Given the description of an element on the screen output the (x, y) to click on. 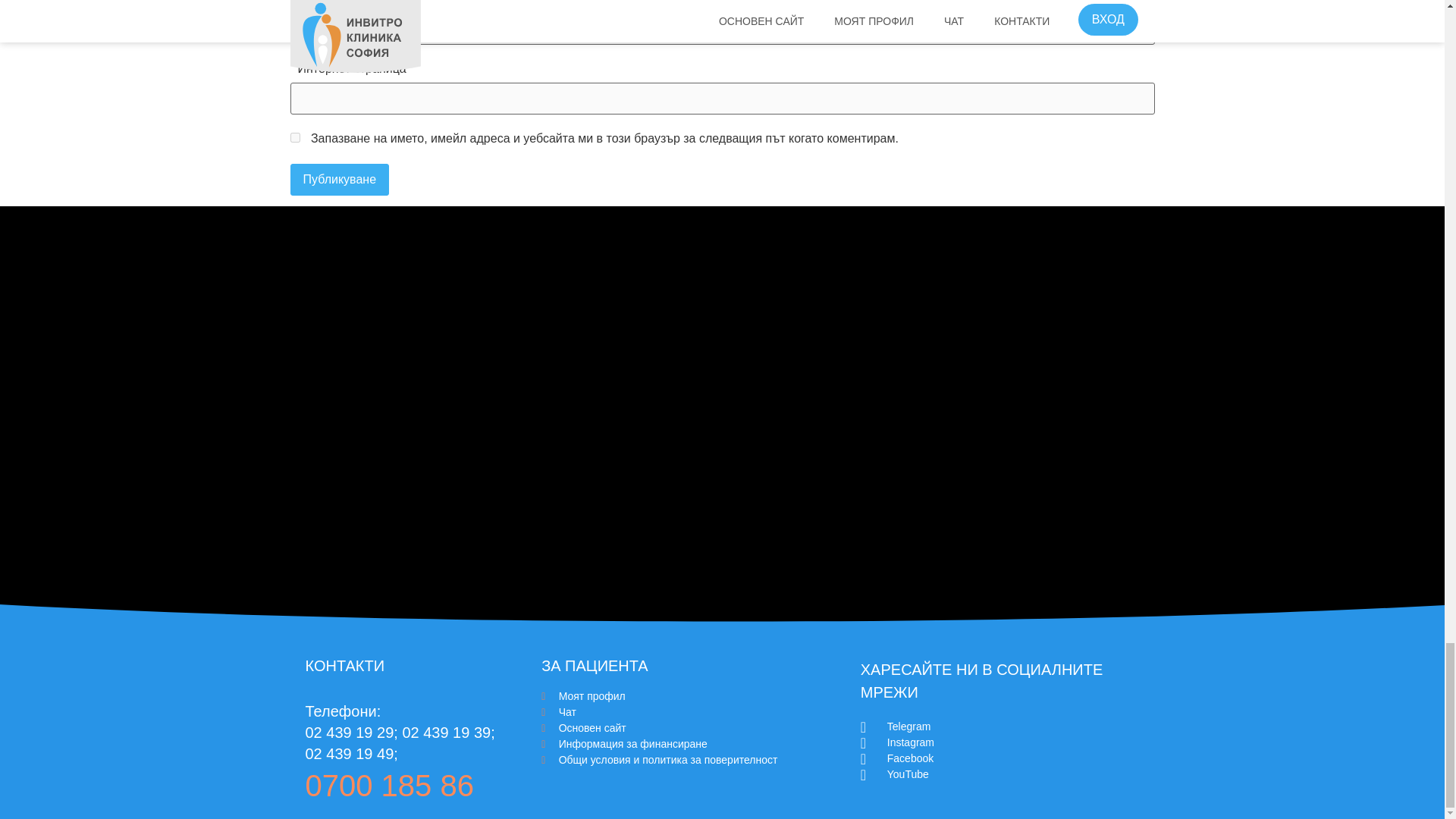
yes (294, 137)
Instagram (1007, 742)
Telegram (1007, 726)
YouTube (1007, 774)
Facebook (1007, 758)
